Given the description of an element on the screen output the (x, y) to click on. 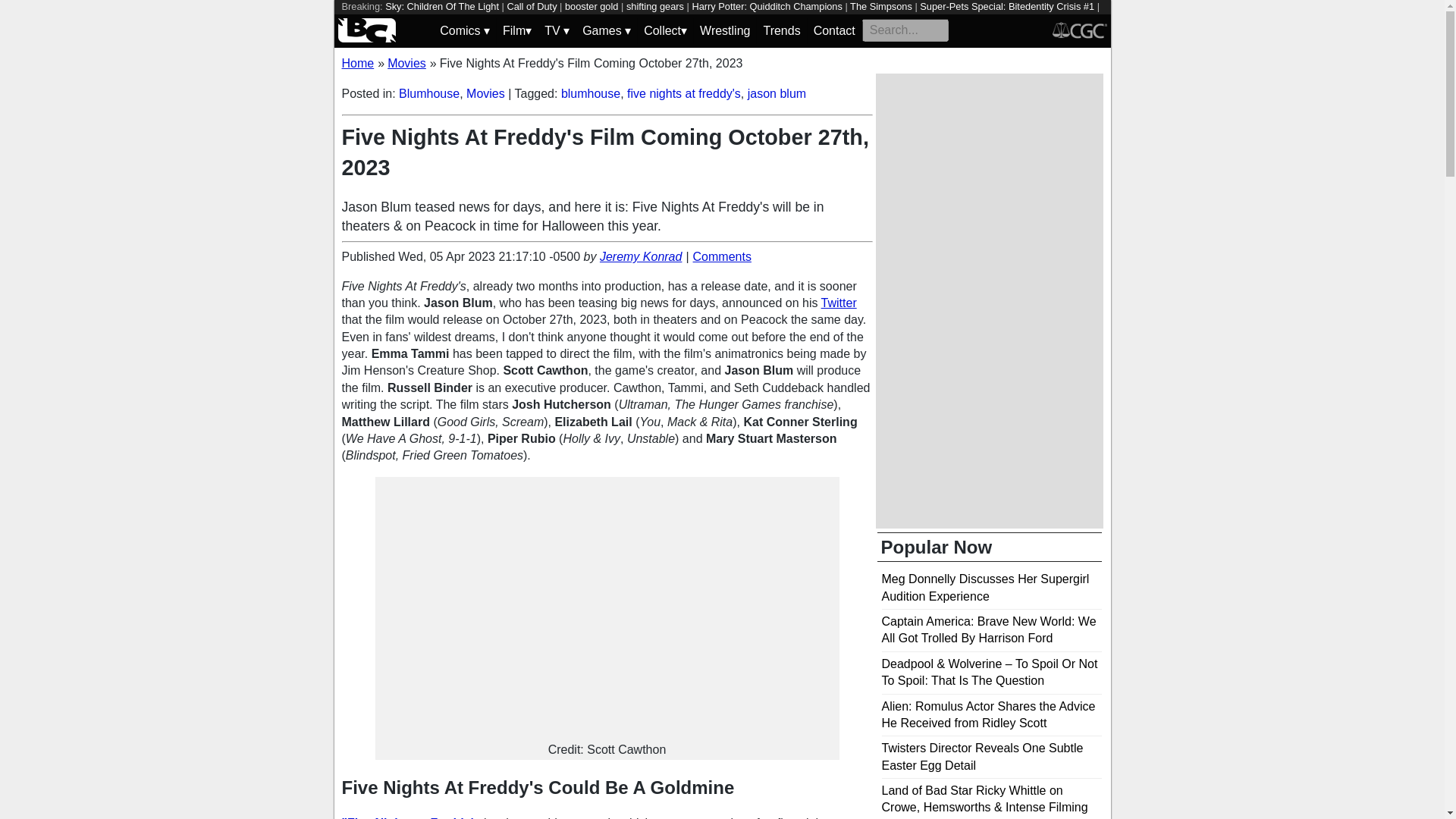
Call of Duty (531, 6)
star wars (360, 19)
X-men (549, 19)
Toggle Dropdown (606, 30)
WWE Raw (411, 19)
Wed, 05 Apr 2023 21:17:10 -0500 (488, 256)
Toggle Dropdown (556, 30)
Toggle Dropdown (516, 30)
The Simpsons (881, 6)
adult swim (594, 19)
Toggle Dropdown (665, 30)
booster gold (590, 6)
Harry Potter: Quidditch Champions (766, 6)
SNL (517, 19)
shifting gears (655, 6)
